Given the description of an element on the screen output the (x, y) to click on. 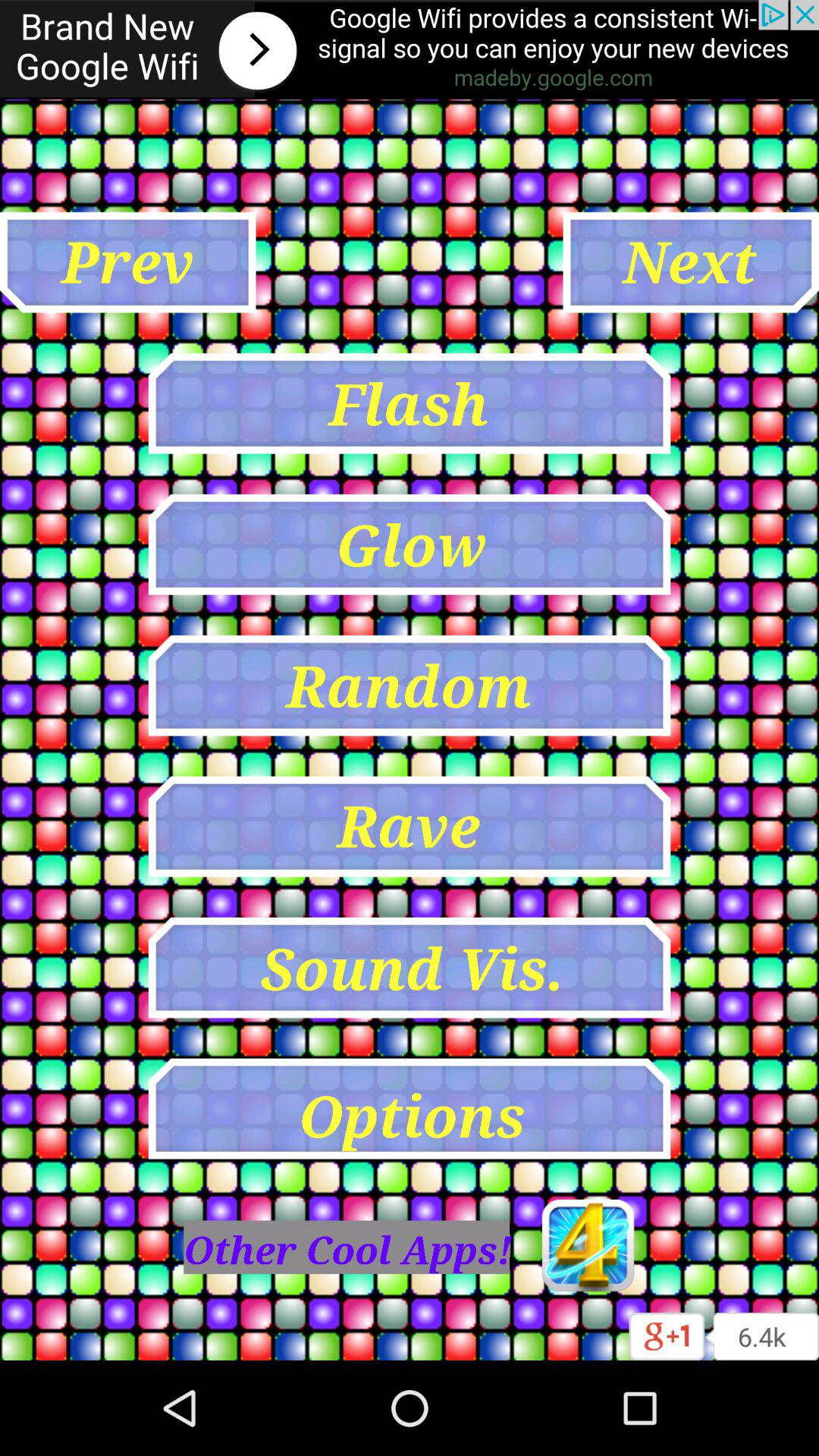
this option advertisement (409, 49)
